Given the description of an element on the screen output the (x, y) to click on. 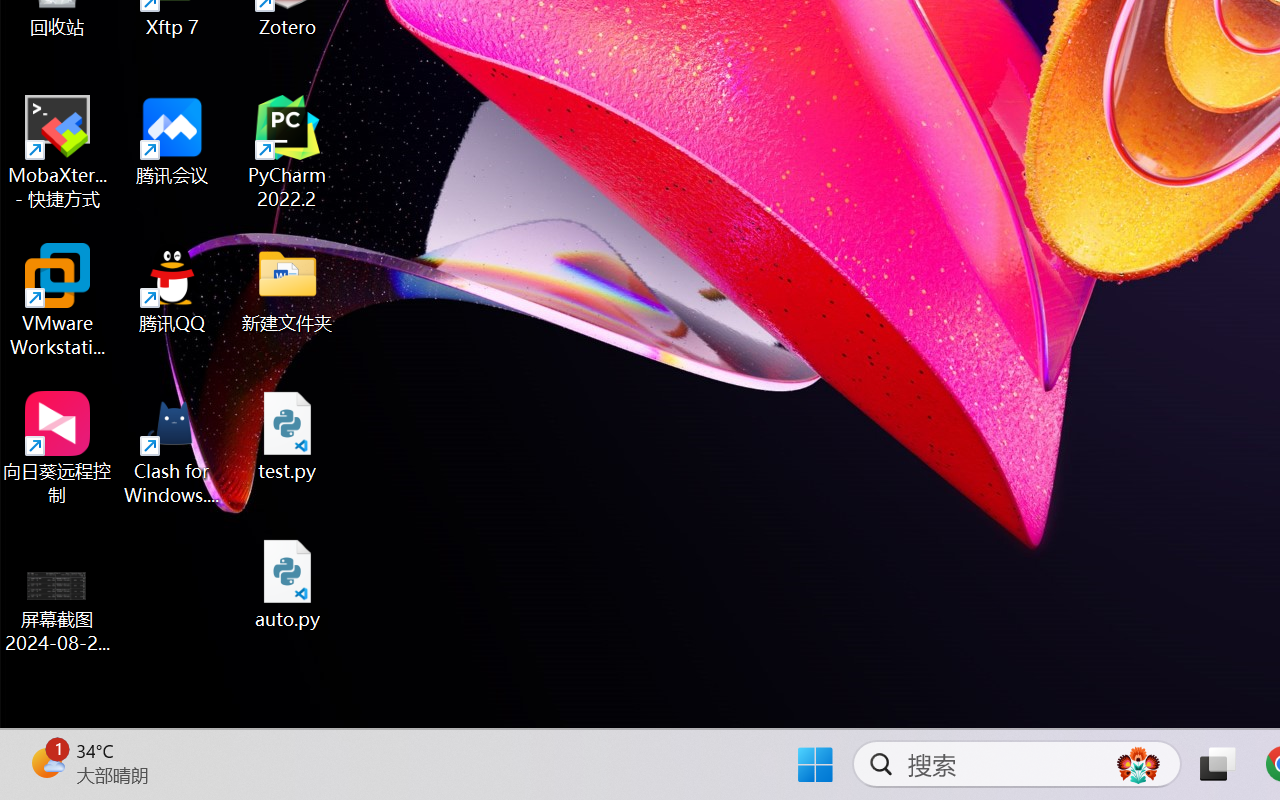
PyCharm 2022.2 (287, 152)
